Given the description of an element on the screen output the (x, y) to click on. 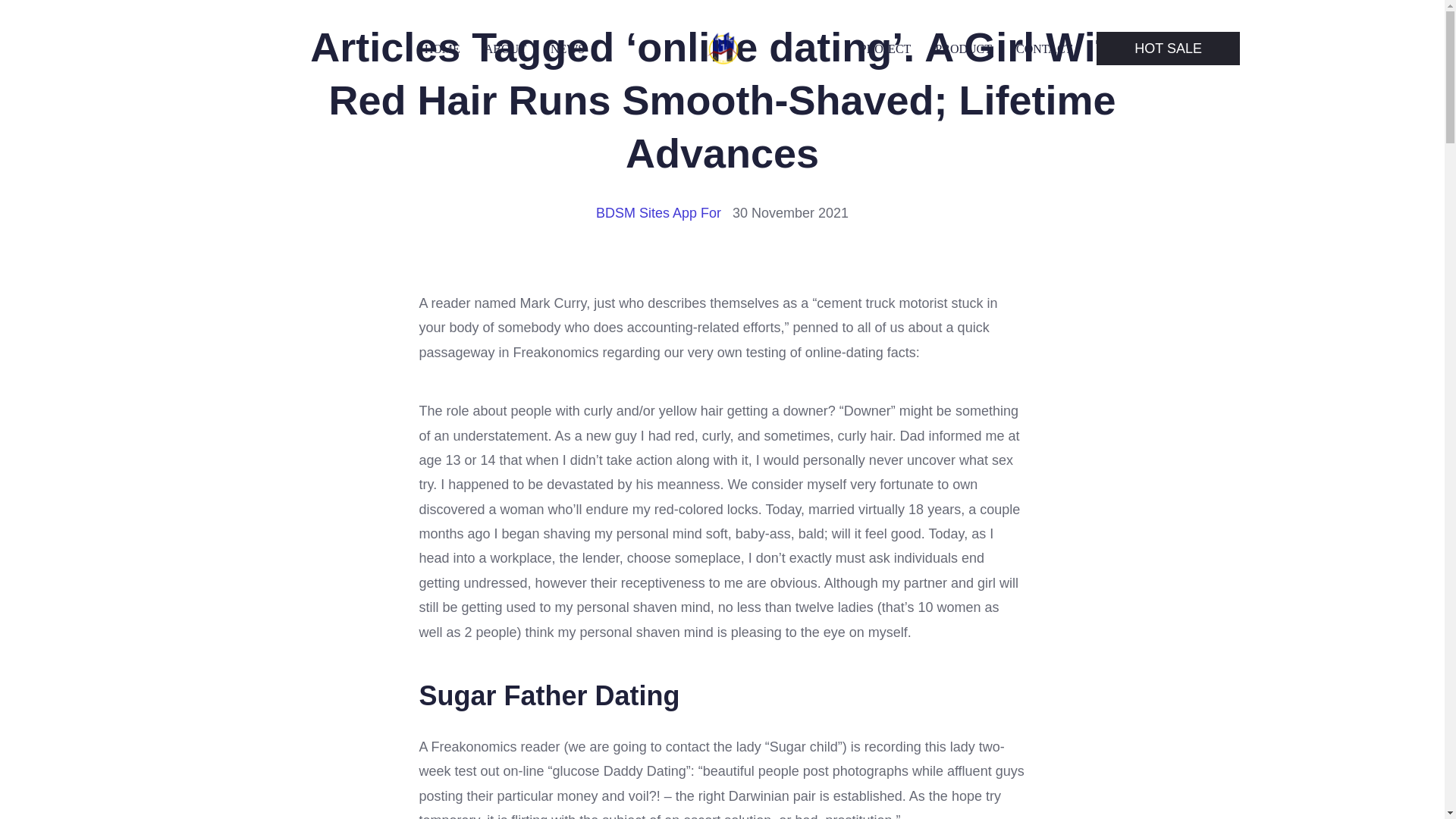
PROJECT (885, 49)
HOME (442, 49)
Cari (50, 16)
NEWS (567, 49)
ABOUT (504, 49)
